Given the description of an element on the screen output the (x, y) to click on. 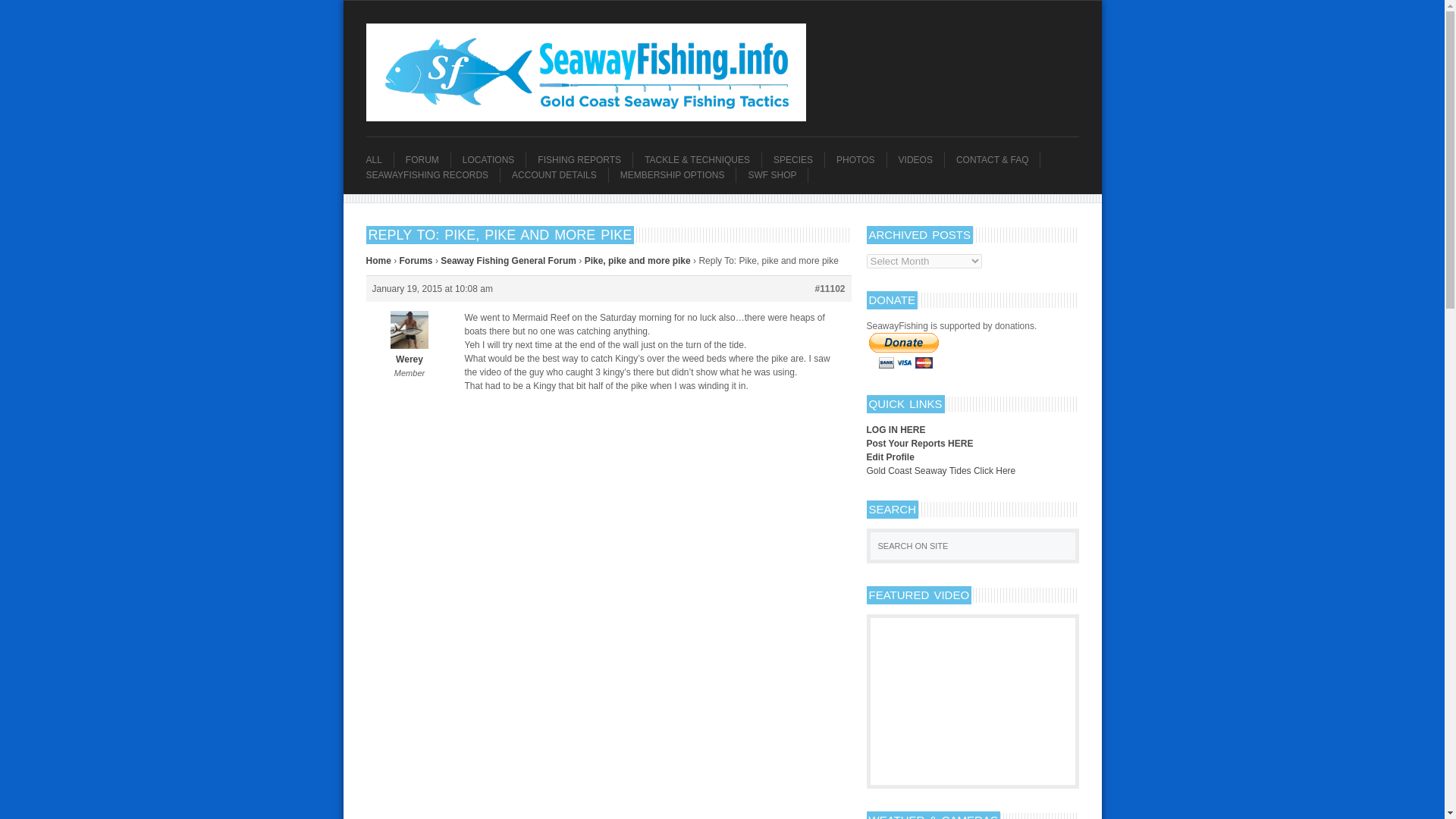
PHOTOS (860, 159)
MEMBERSHIP OPTIONS (678, 174)
SWF SHOP (778, 174)
SPECIES (798, 159)
LOG IN HERE (895, 429)
Forums (415, 260)
Pike, pike and more pike (637, 260)
Home (377, 260)
ACCOUNT DETAILS (560, 174)
Werey (408, 353)
